Given the description of an element on the screen output the (x, y) to click on. 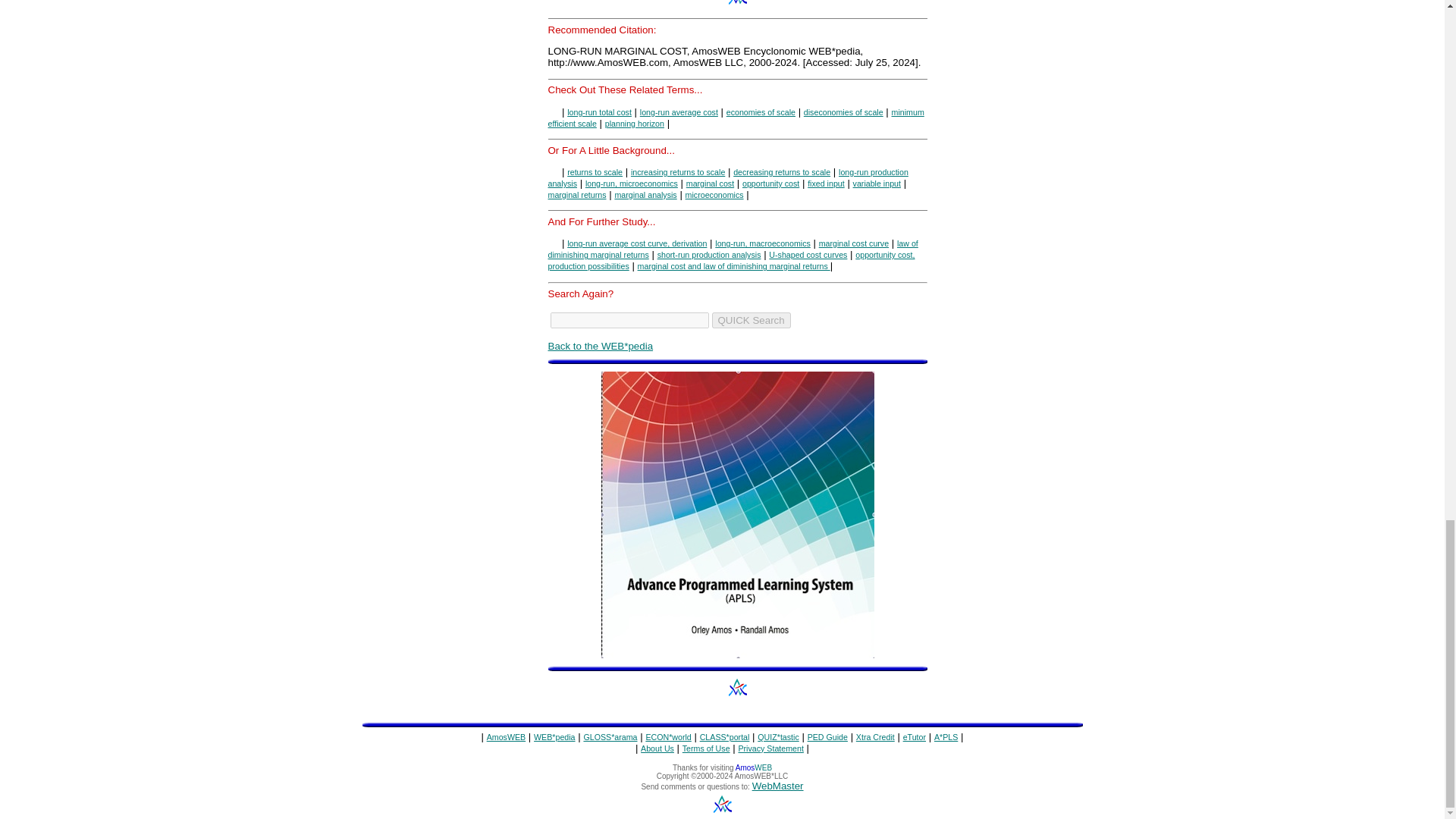
QUICK Search (750, 320)
